Given the description of an element on the screen output the (x, y) to click on. 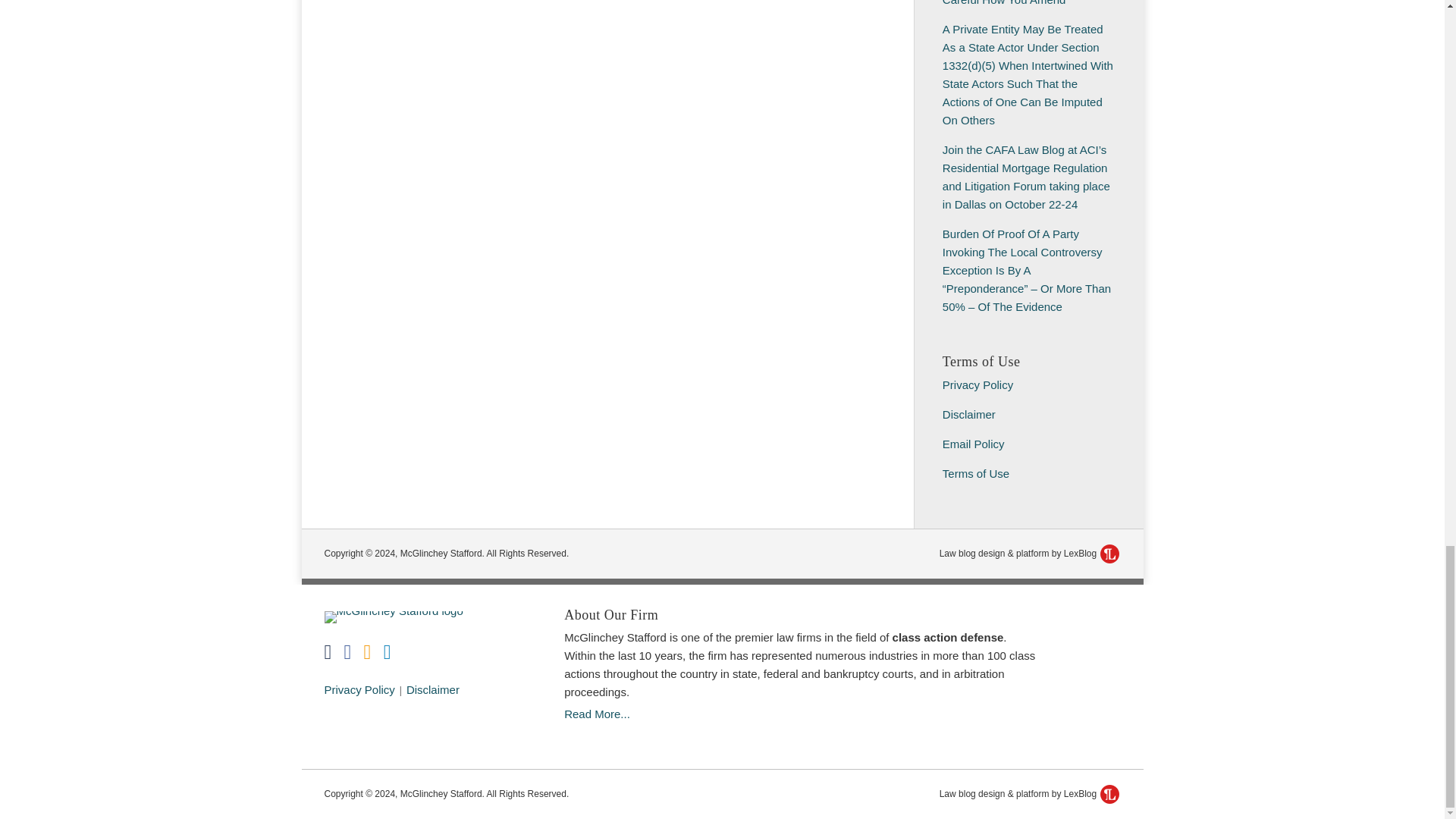
LexBlog Logo (1109, 793)
LexBlog Logo (1109, 553)
